Given the description of an element on the screen output the (x, y) to click on. 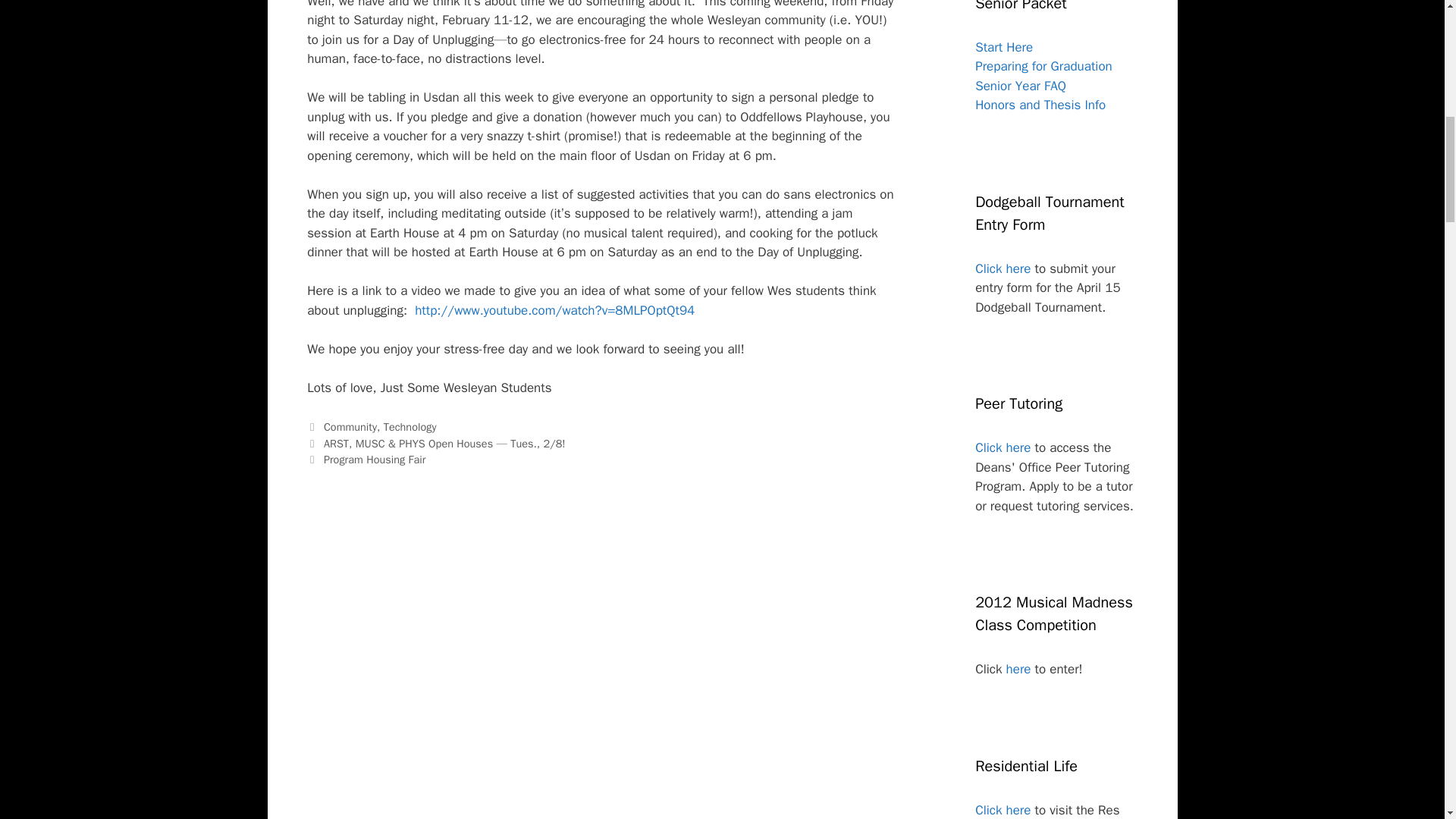
Click here (1002, 268)
Preparing for Graduation (1043, 66)
Senior Year FAQ (1020, 85)
Start Here (1003, 47)
here (1018, 668)
Technology (410, 427)
Honors and Thesis Info (1040, 105)
Community (350, 427)
Program Housing Fair (374, 459)
Click here (1002, 447)
